Given the description of an element on the screen output the (x, y) to click on. 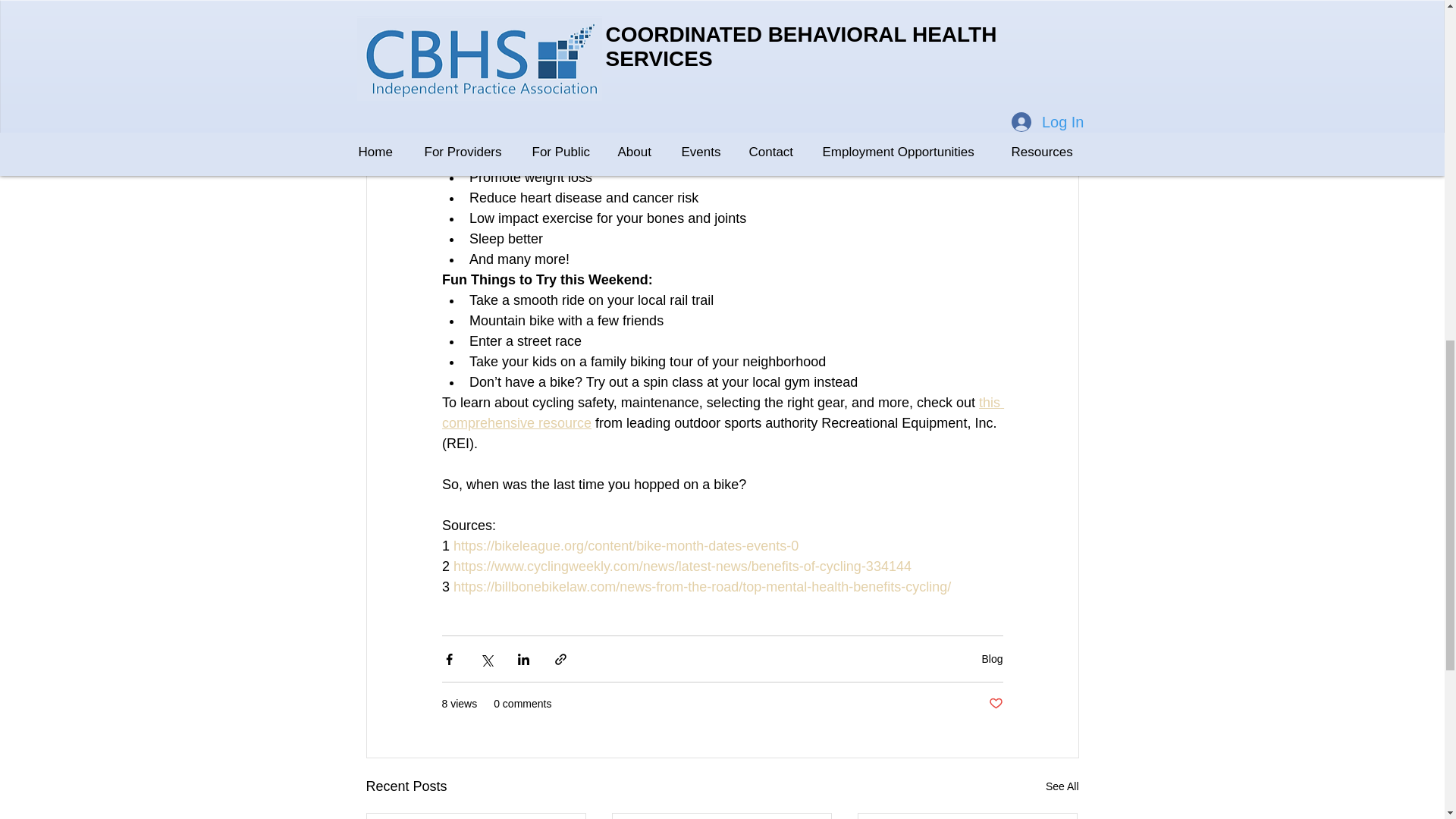
this comprehensive resource (722, 412)
Blog (992, 658)
